Given the description of an element on the screen output the (x, y) to click on. 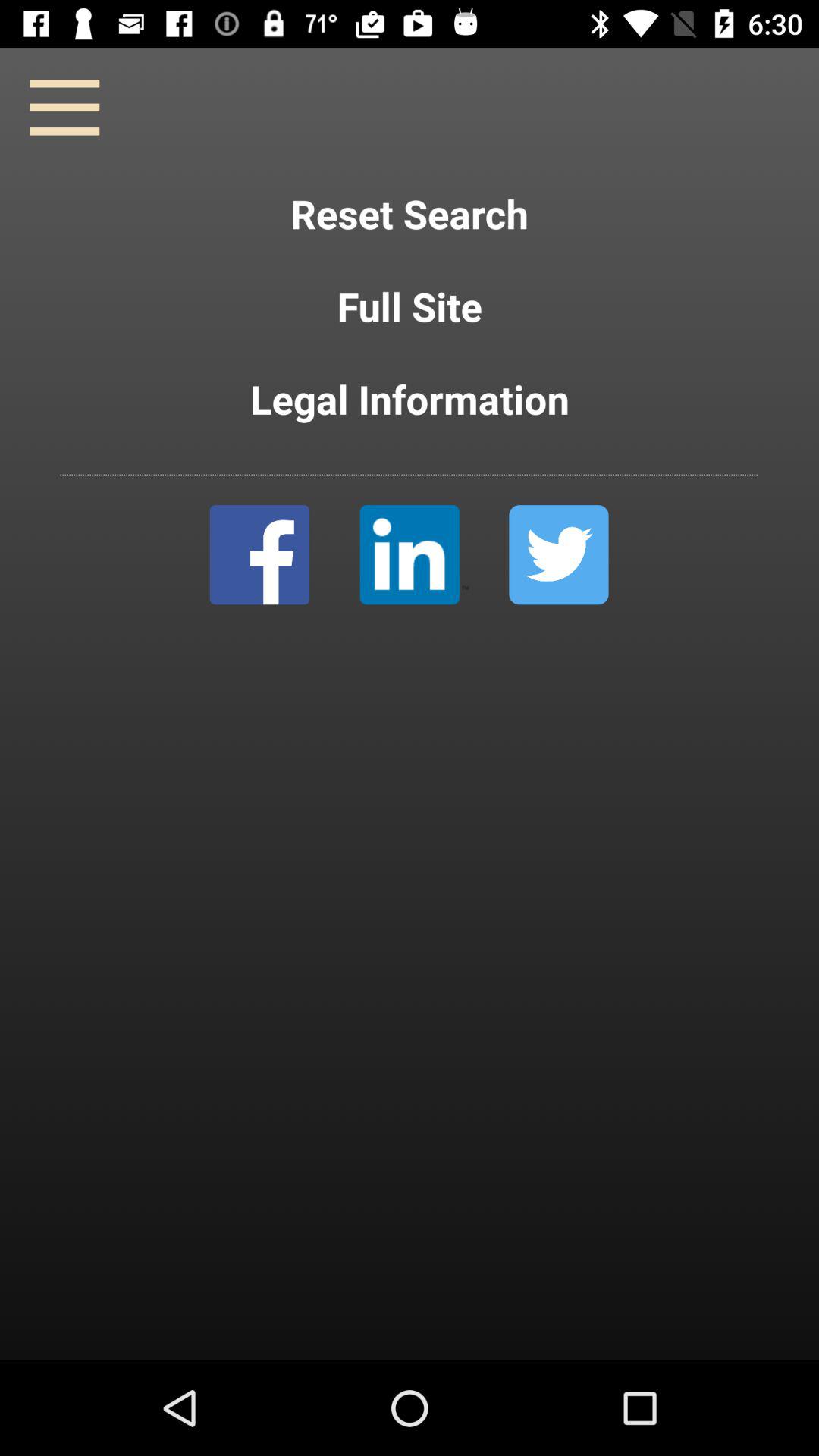
go to linkedin page (414, 554)
